Given the description of an element on the screen output the (x, y) to click on. 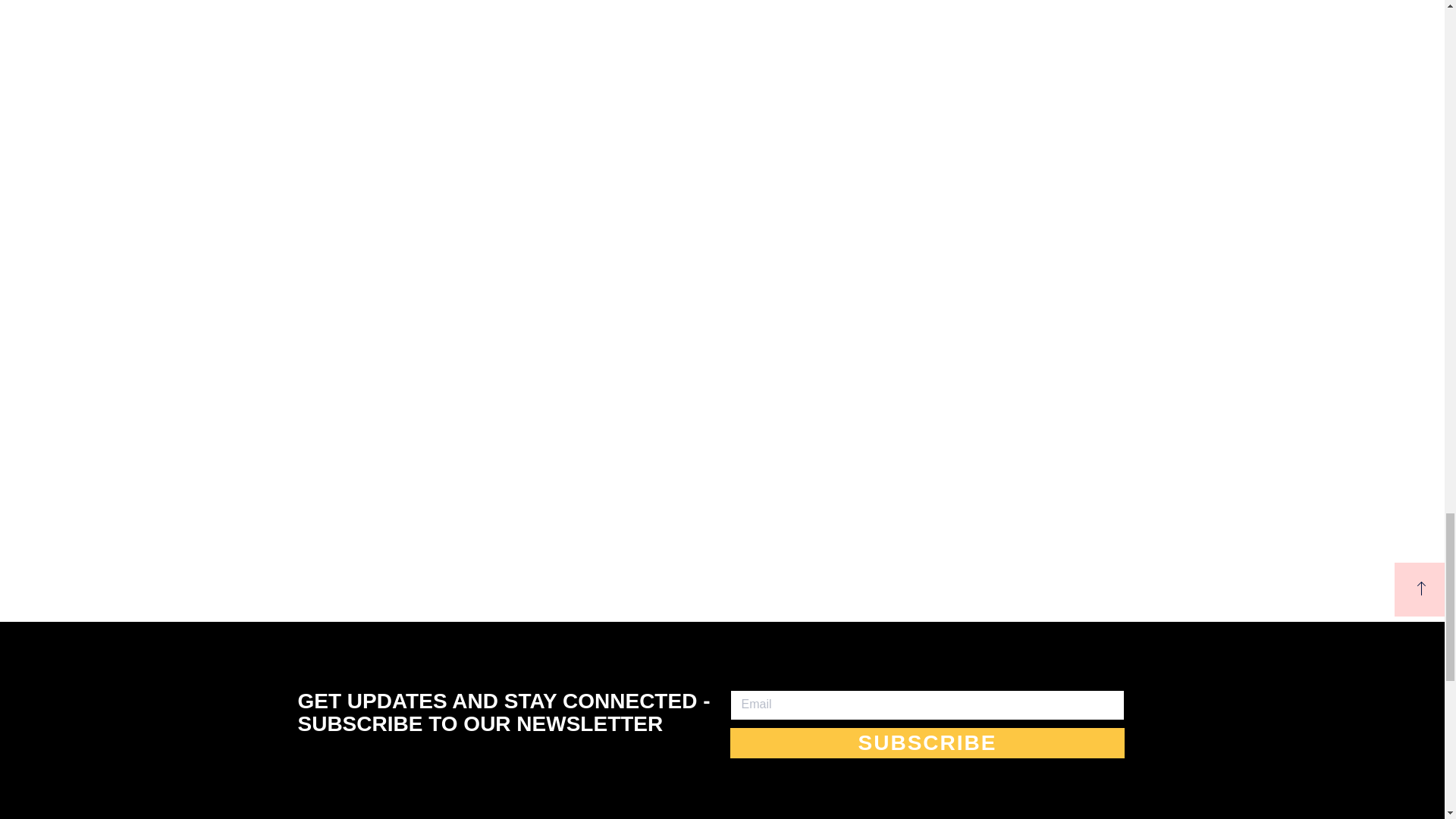
SUBSCRIBE (926, 743)
ARROW (1420, 588)
